Given the description of an element on the screen output the (x, y) to click on. 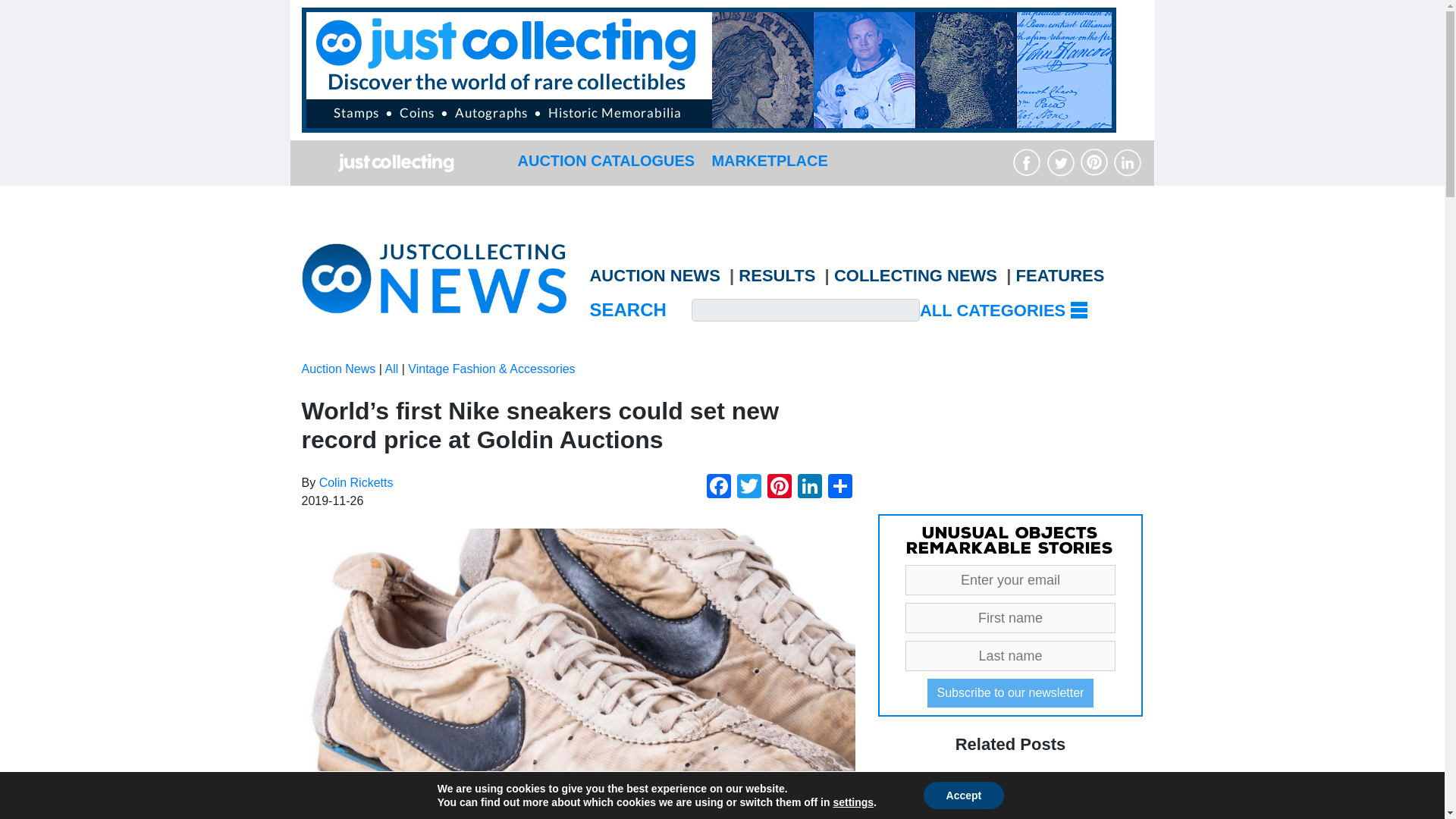
Twitter (748, 488)
LinkedIn (809, 488)
AUCTION CATALOGUES (605, 160)
Facebook (718, 488)
Subscribe to our newsletter (1010, 692)
Posts by Colin Ricketts (355, 481)
Pinterest (779, 488)
Search for... (805, 309)
